Given the description of an element on the screen output the (x, y) to click on. 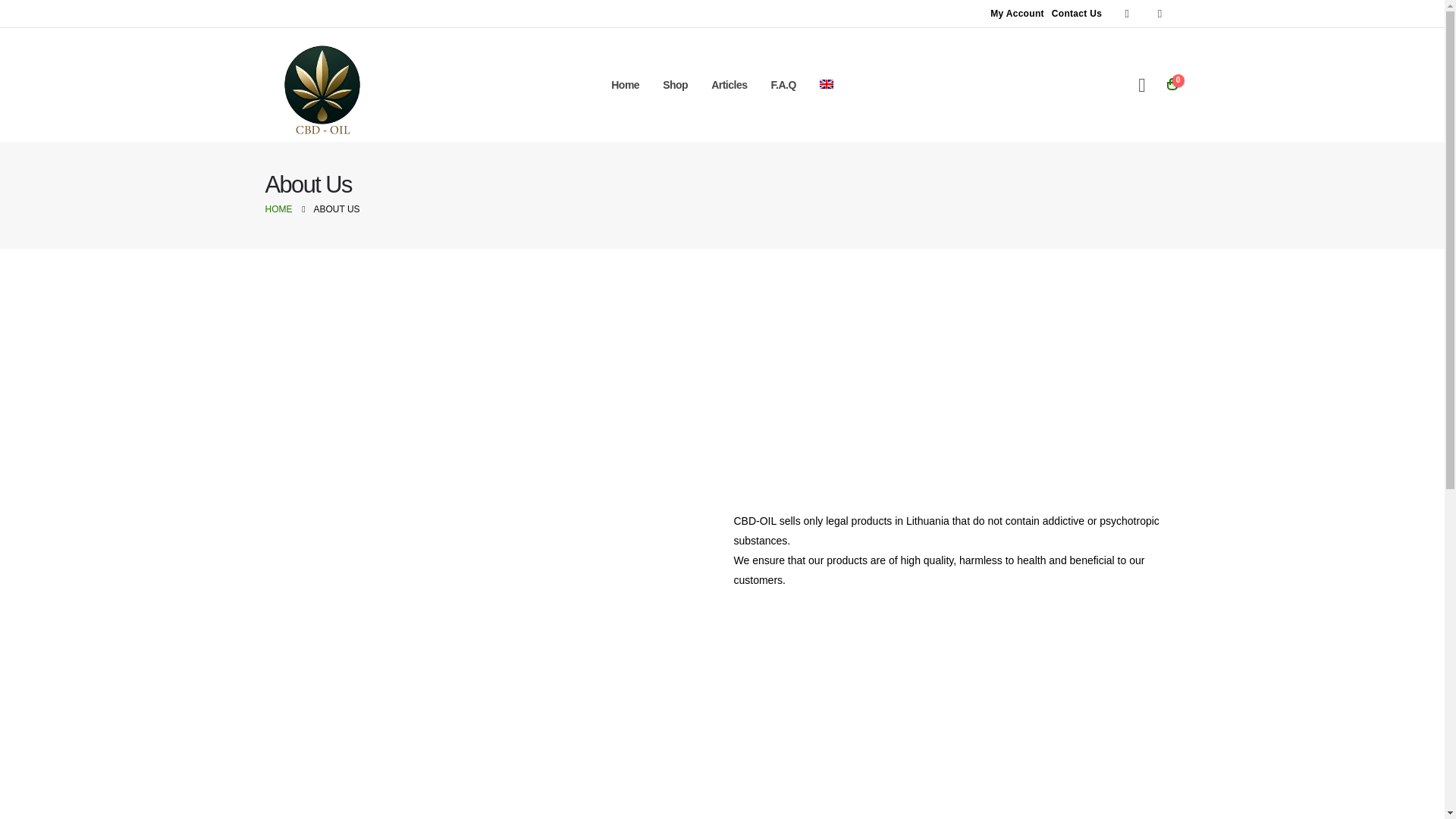
Instagram (1160, 13)
Go to Home Page (278, 209)
Contact Us (1076, 13)
My Account (1017, 13)
HOME (278, 209)
Facebook (1126, 13)
